Given the description of an element on the screen output the (x, y) to click on. 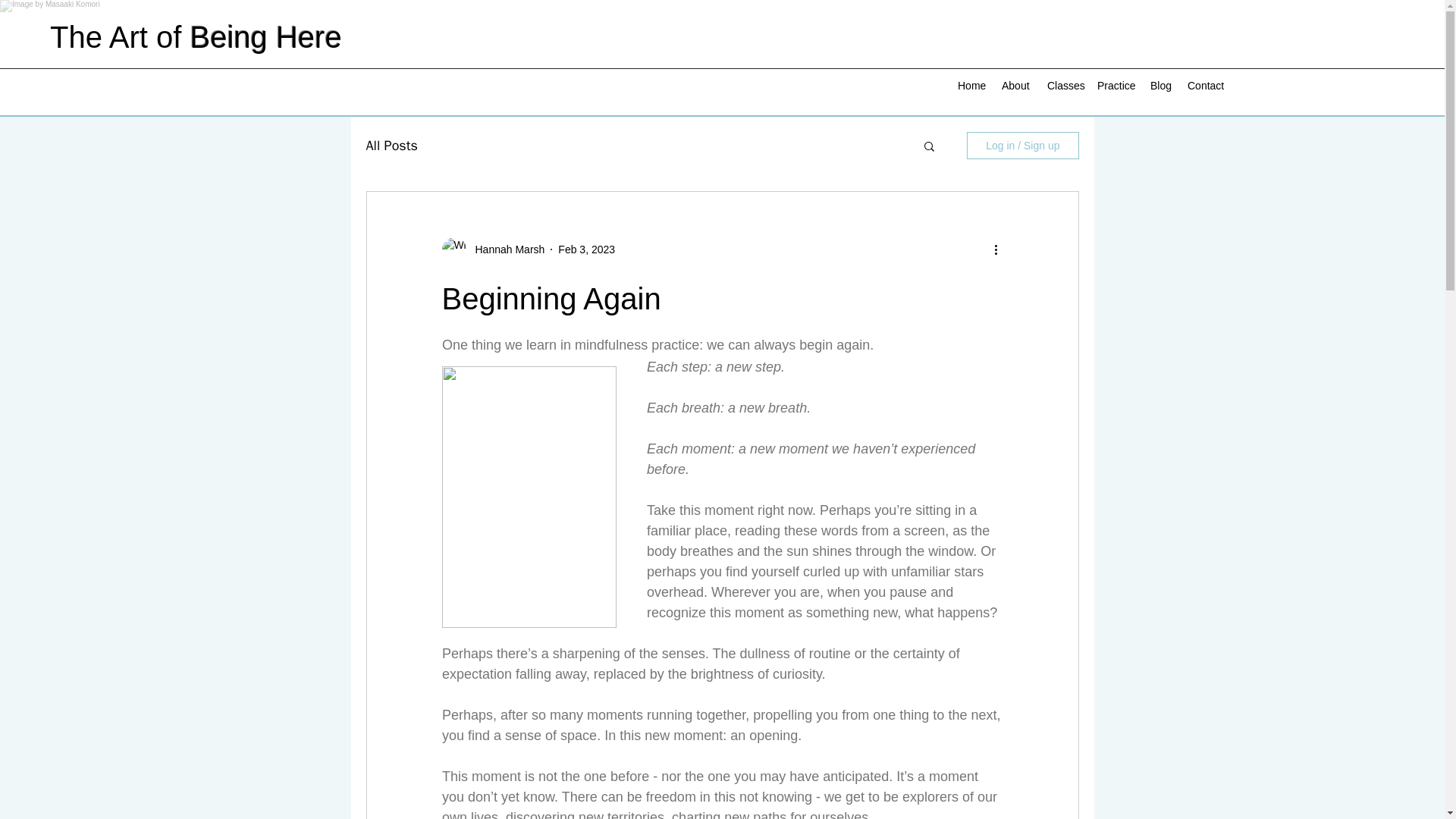
Feb 3, 2023 (585, 248)
The Art of (119, 37)
Hannah Marsh (504, 248)
Home (972, 85)
Being Here (266, 37)
All Posts (390, 145)
Contact (1206, 85)
Practice (1115, 85)
